Given the description of an element on the screen output the (x, y) to click on. 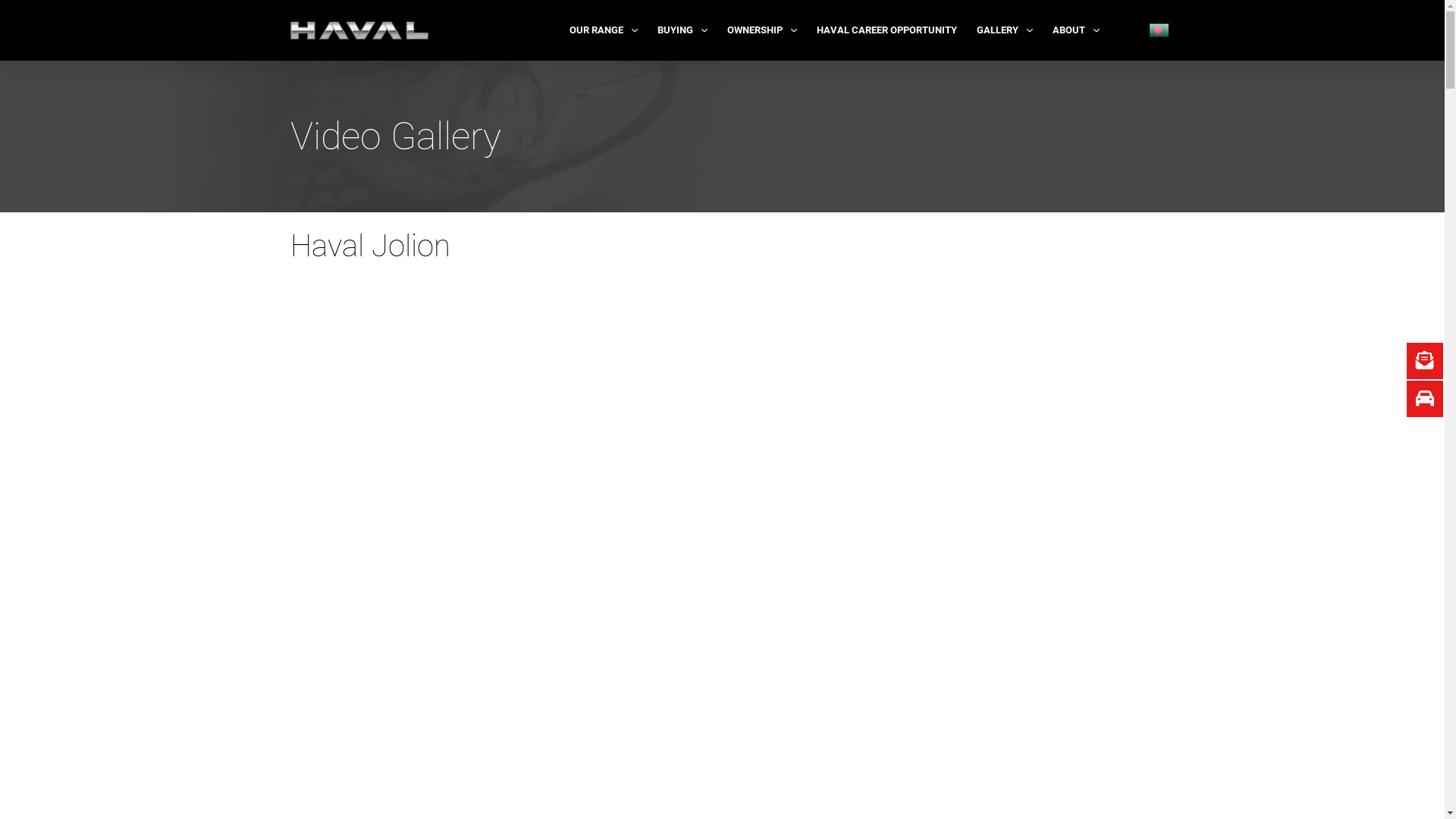
OUR RANGE Element type: text (603, 30)
ABOUT Element type: text (1075, 30)
BUYING Element type: text (682, 30)
HAVAL CAREER OPPORTUNITY Element type: text (886, 30)
GALLERY Element type: text (1004, 30)
OWNERSHIP Element type: text (762, 30)
